Given the description of an element on the screen output the (x, y) to click on. 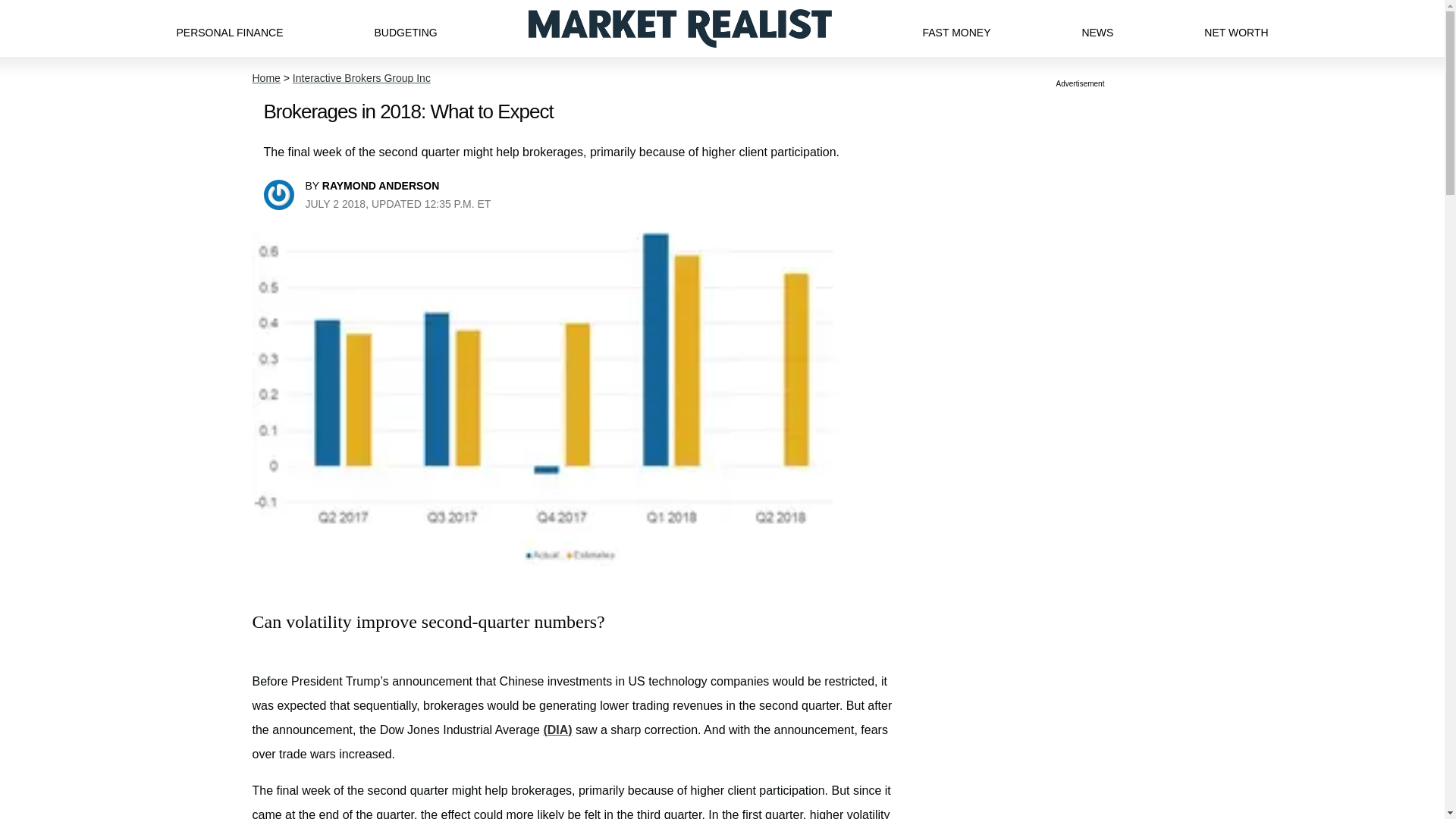
RAYMOND ANDERSON (380, 185)
NEWS (1097, 27)
NET WORTH (1236, 27)
PERSONAL FINANCE (229, 27)
Interactive Brokers Group Inc (361, 78)
BUDGETING (405, 27)
Home (265, 78)
FAST MONEY (955, 27)
